Given the description of an element on the screen output the (x, y) to click on. 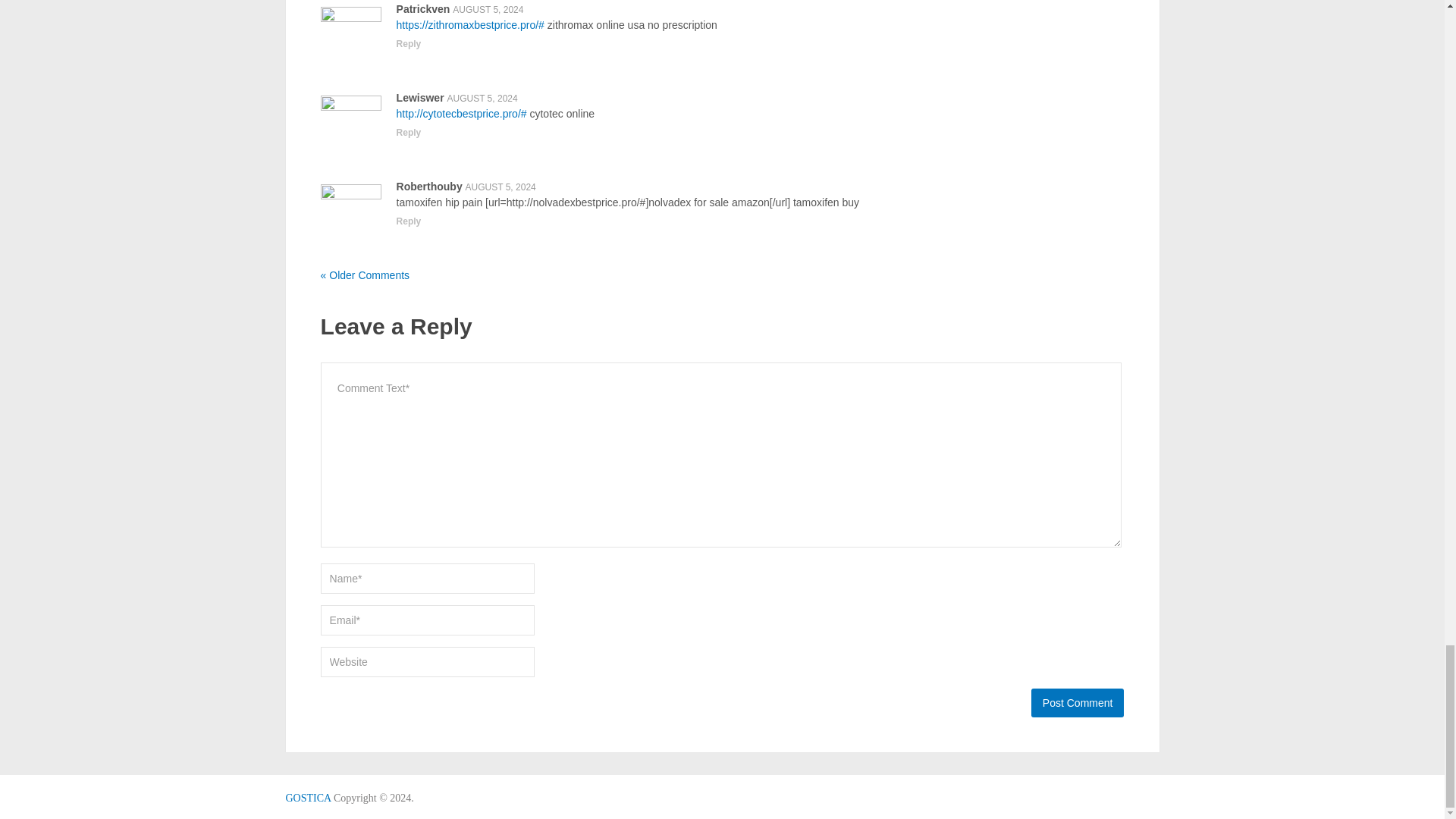
 The Spiritual Path (307, 797)
Post Comment (1077, 702)
